Given the description of an element on the screen output the (x, y) to click on. 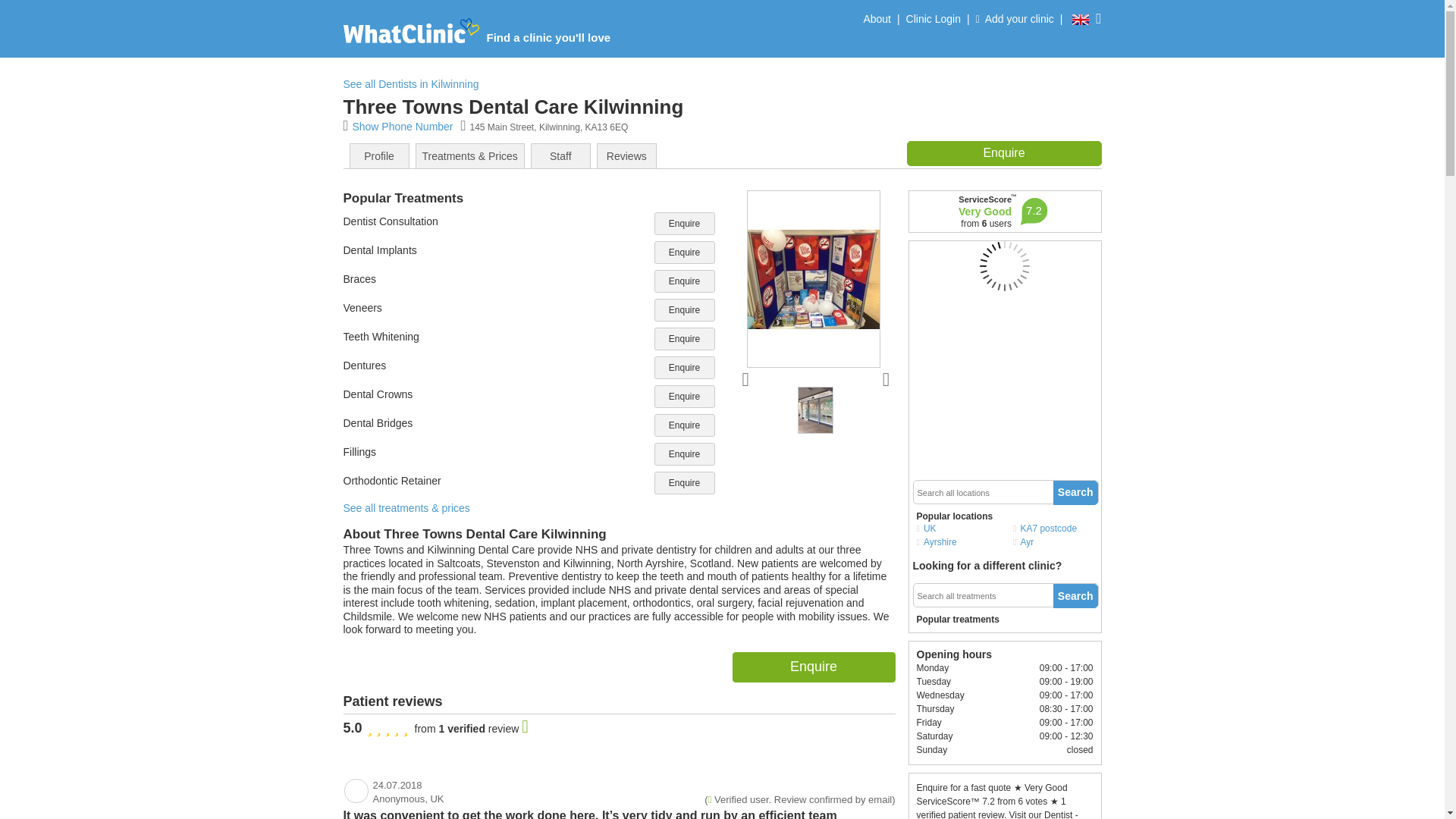
Location: Search all locations (979, 492)
Staff (560, 156)
Show Reviews  (626, 155)
About (877, 22)
Show Staff (561, 155)
Enquire (683, 338)
Find a clinic you'll love (477, 28)
Dentists in Ayr (1056, 541)
Enquire (683, 223)
Show Overview (379, 155)
